Given the description of an element on the screen output the (x, y) to click on. 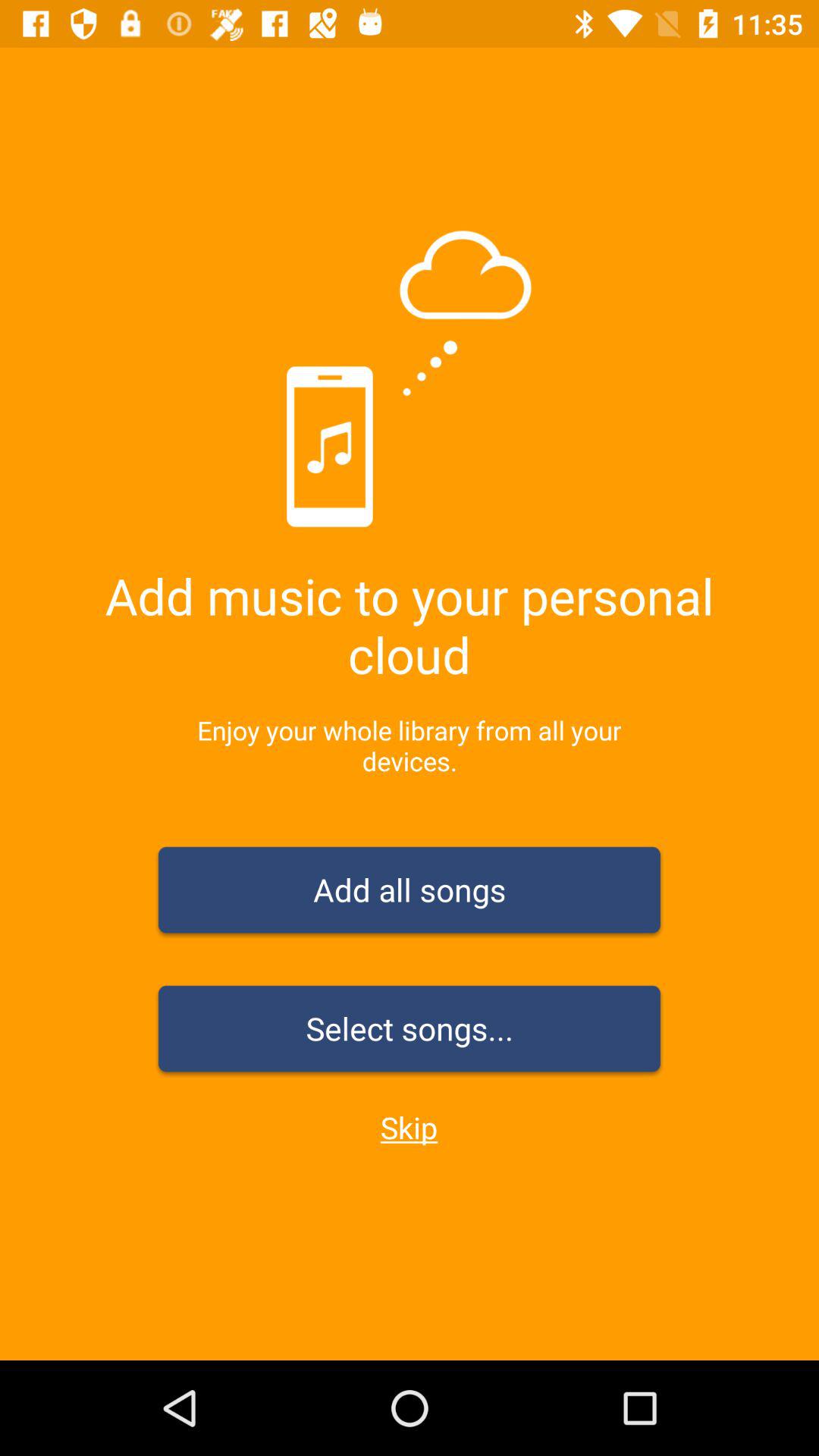
click the select songs... item (409, 1031)
